Given the description of an element on the screen output the (x, y) to click on. 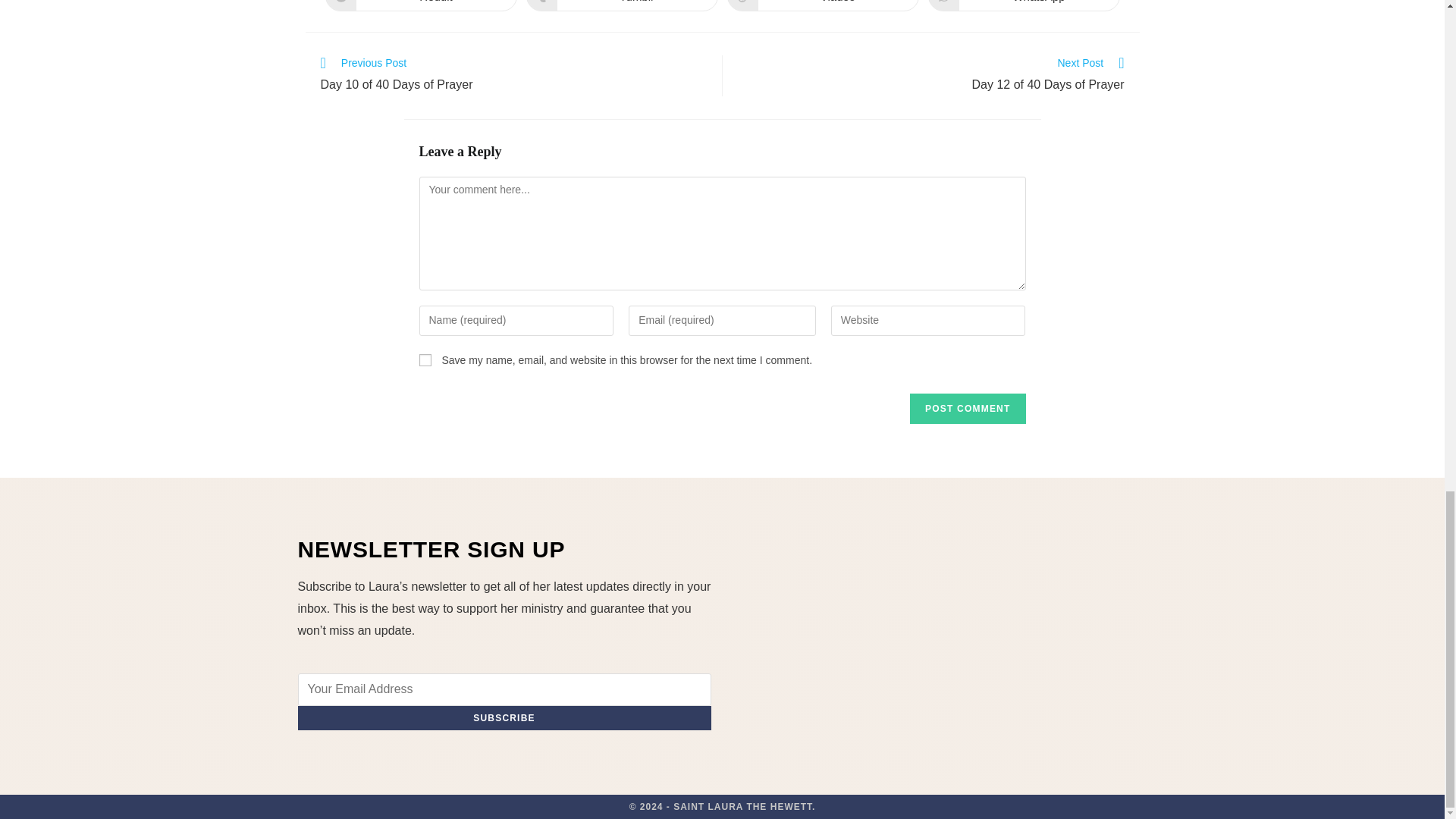
yes (424, 359)
Post Comment (513, 75)
Reddit (967, 408)
Viadeo (420, 5)
WhatsApp (822, 5)
Post Comment (1023, 5)
SUBSCRIBE (967, 408)
Tumblr (503, 717)
